Given the description of an element on the screen output the (x, y) to click on. 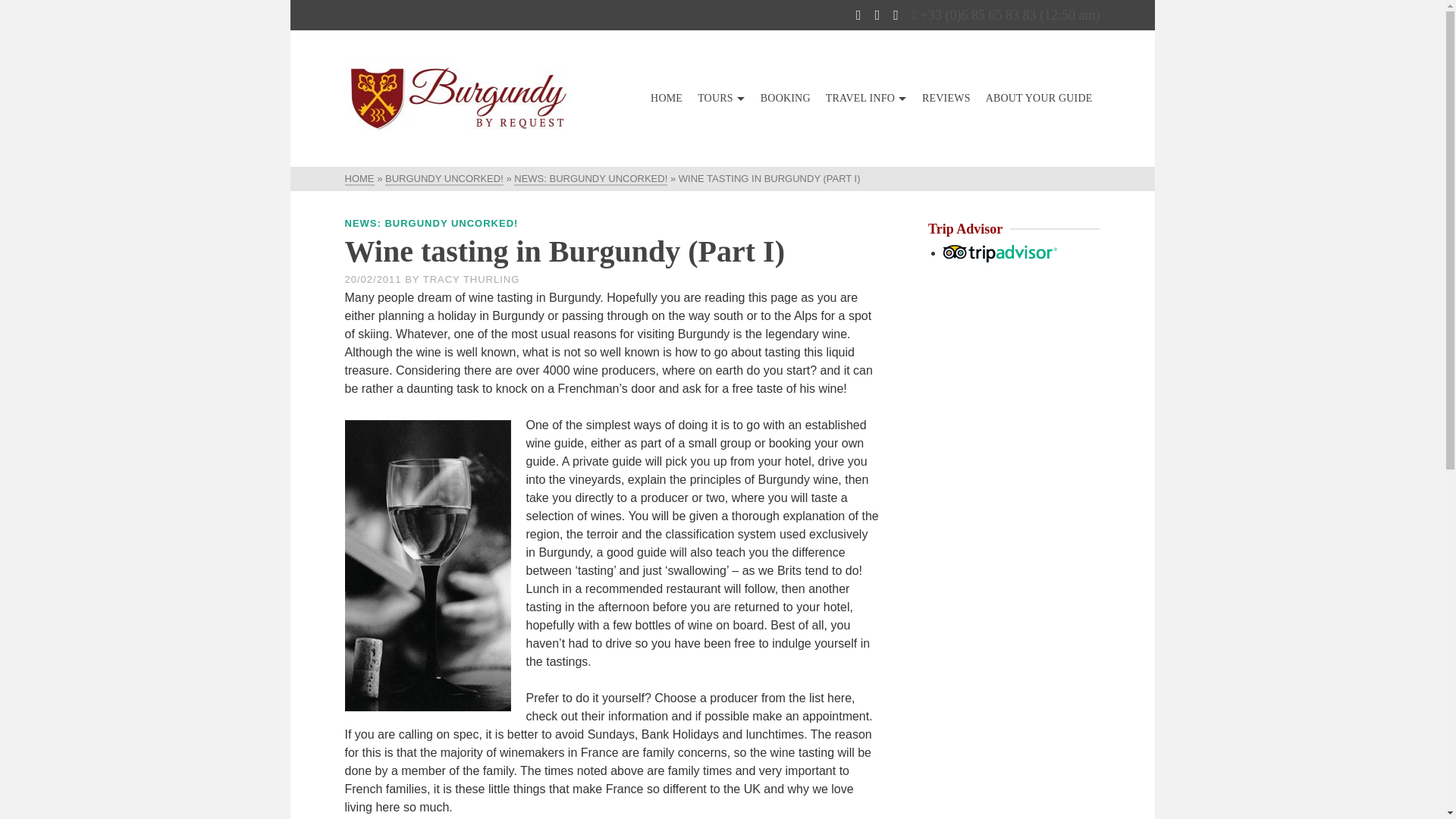
TRAVEL INFO (866, 98)
TRACY THURLING (471, 279)
HOME (666, 98)
ABOUT YOUR GUIDE (1039, 98)
BURGUNDY UNCORKED! (444, 178)
TOURS (721, 98)
BOOKING (785, 98)
REVIEWS (946, 98)
HOME (358, 178)
NEWS: BURGUNDY UNCORKED! (430, 223)
NEWS: BURGUNDY UNCORKED! (589, 178)
